Given the description of an element on the screen output the (x, y) to click on. 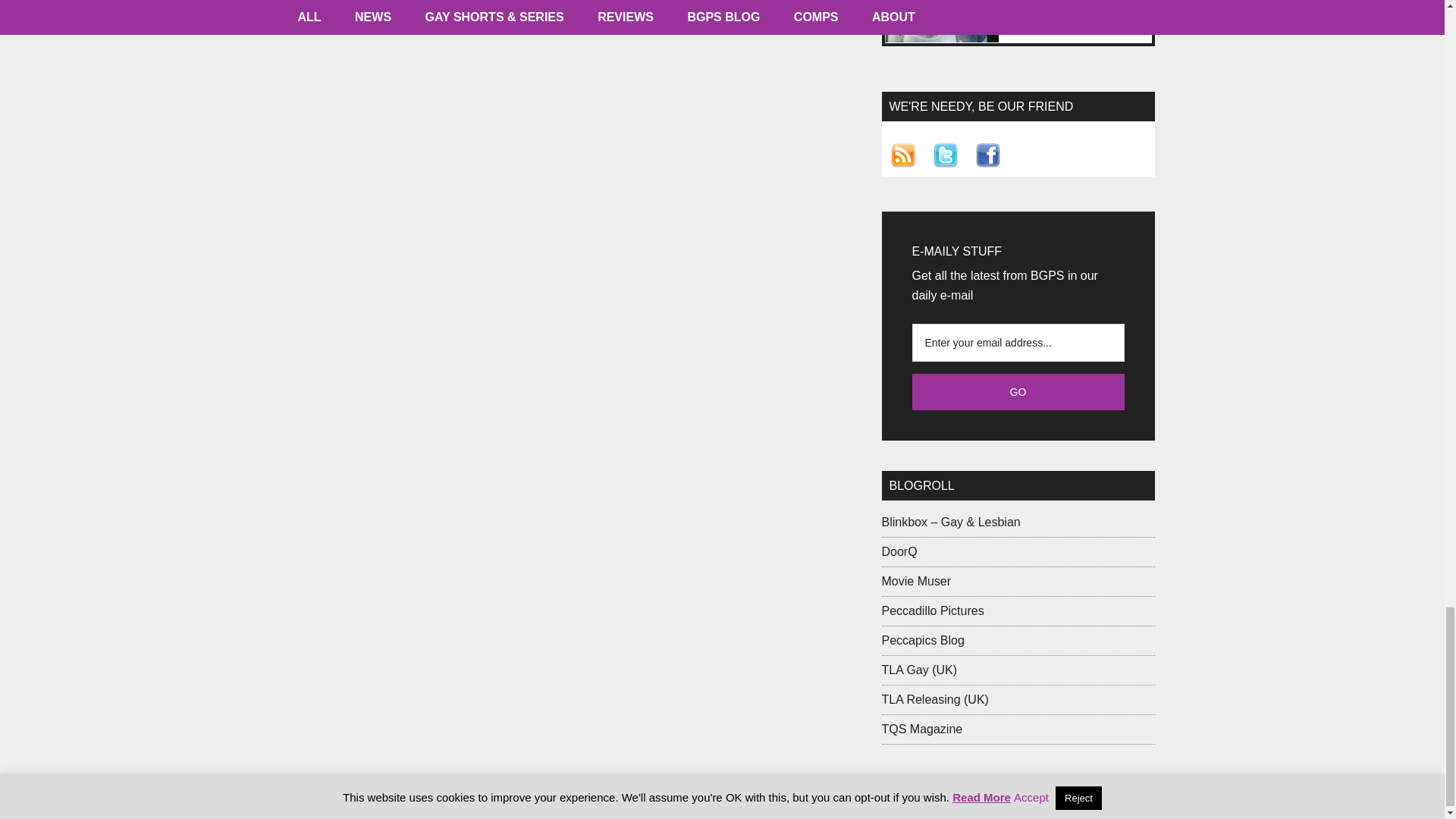
Go (1017, 391)
